Given the description of an element on the screen output the (x, y) to click on. 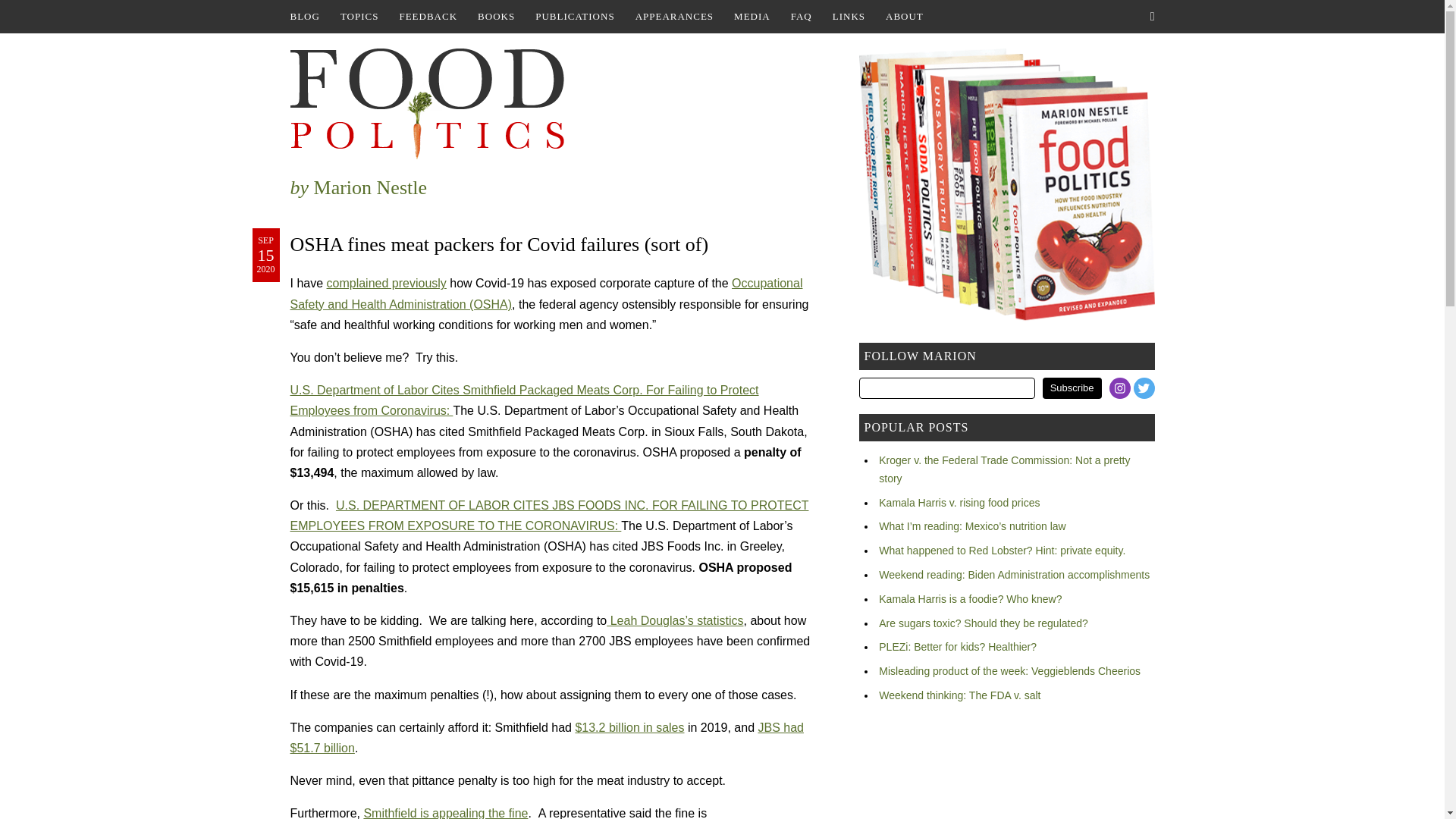
TOPICS (360, 16)
LINKS (848, 16)
Twitter (1143, 388)
FAQ (801, 16)
APPEARANCES (673, 16)
MEDIA (751, 16)
Subscribe (1072, 387)
BOOKS (496, 16)
